Given the description of an element on the screen output the (x, y) to click on. 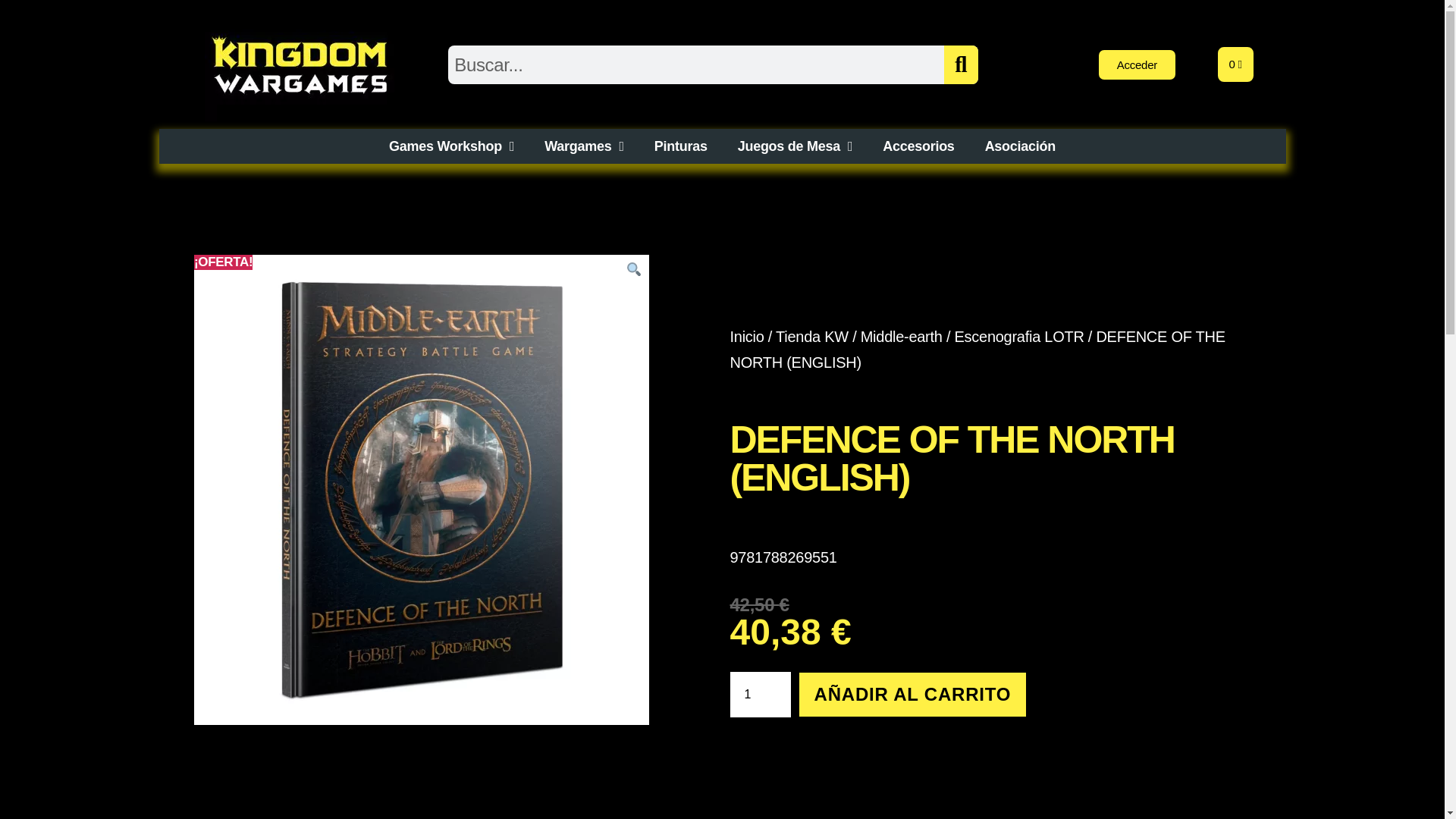
Wargames (584, 145)
0 (1235, 63)
Juegos de Mesa (794, 145)
Games Workshop (451, 145)
1 (759, 694)
Pinturas (680, 145)
Accesorios (918, 145)
Acceder (1136, 63)
